Given the description of an element on the screen output the (x, y) to click on. 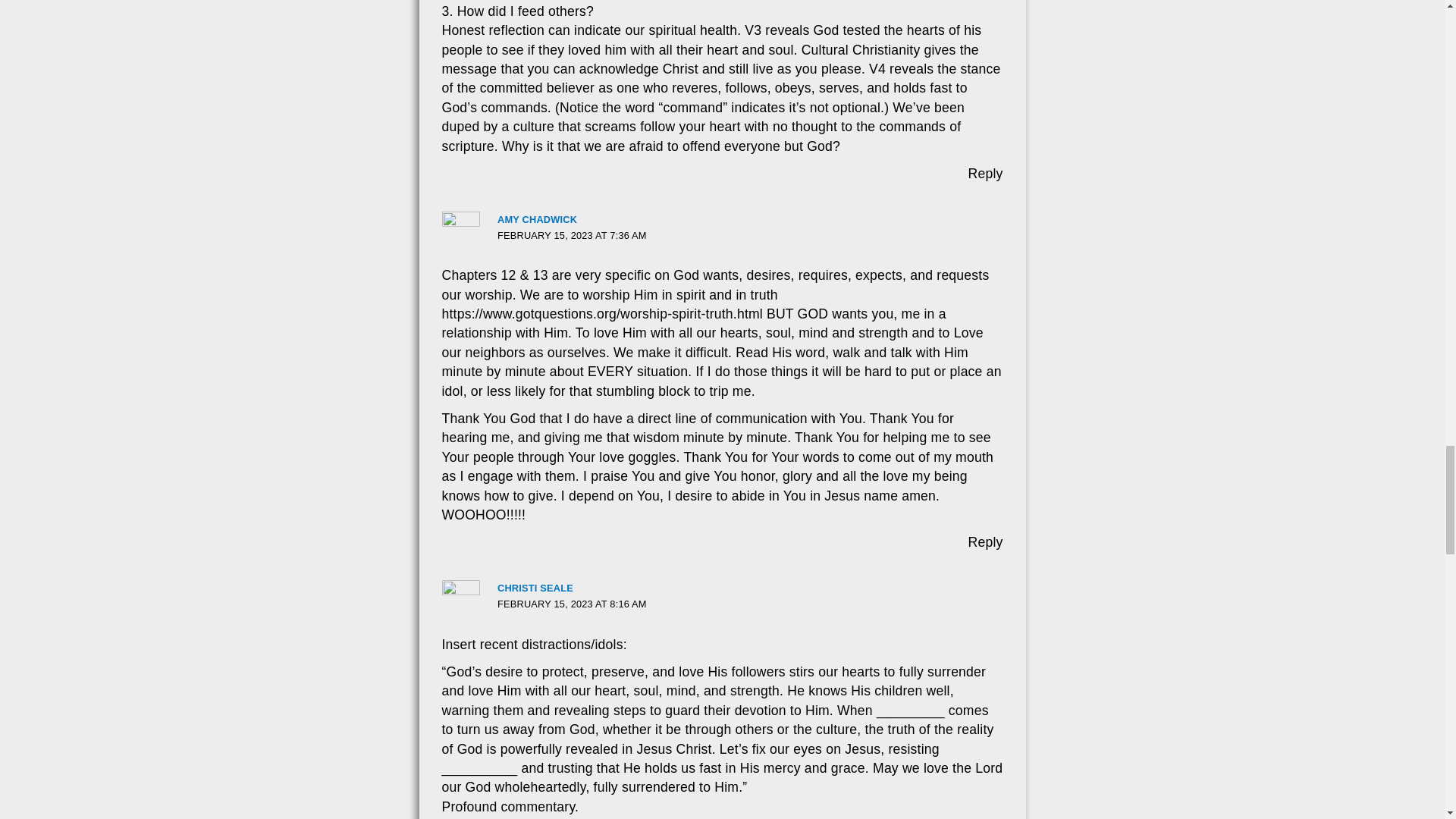
FEBRUARY 15, 2023 AT 8:16 AM (571, 603)
Reply (985, 173)
Reply (985, 541)
FEBRUARY 15, 2023 AT 7:36 AM (571, 235)
